Given the description of an element on the screen output the (x, y) to click on. 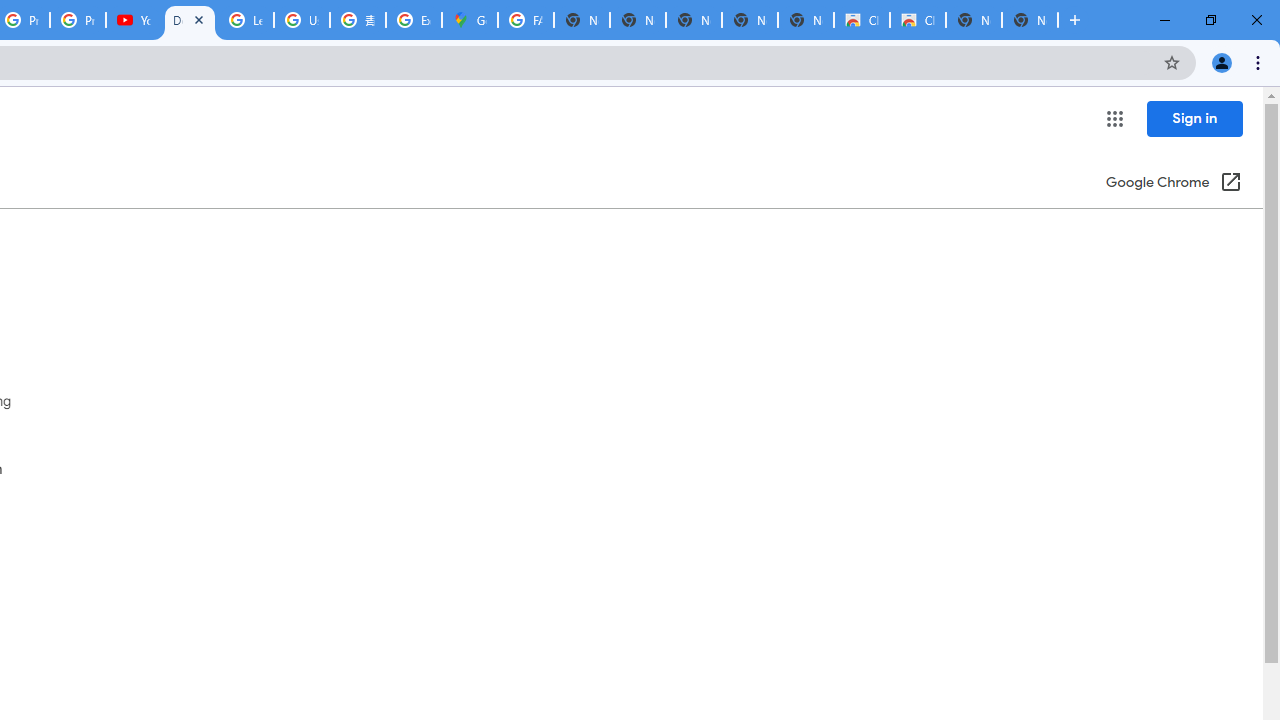
New Tab (1030, 20)
Privacy Checkup (77, 20)
Google Maps (469, 20)
YouTube (134, 20)
